Given the description of an element on the screen output the (x, y) to click on. 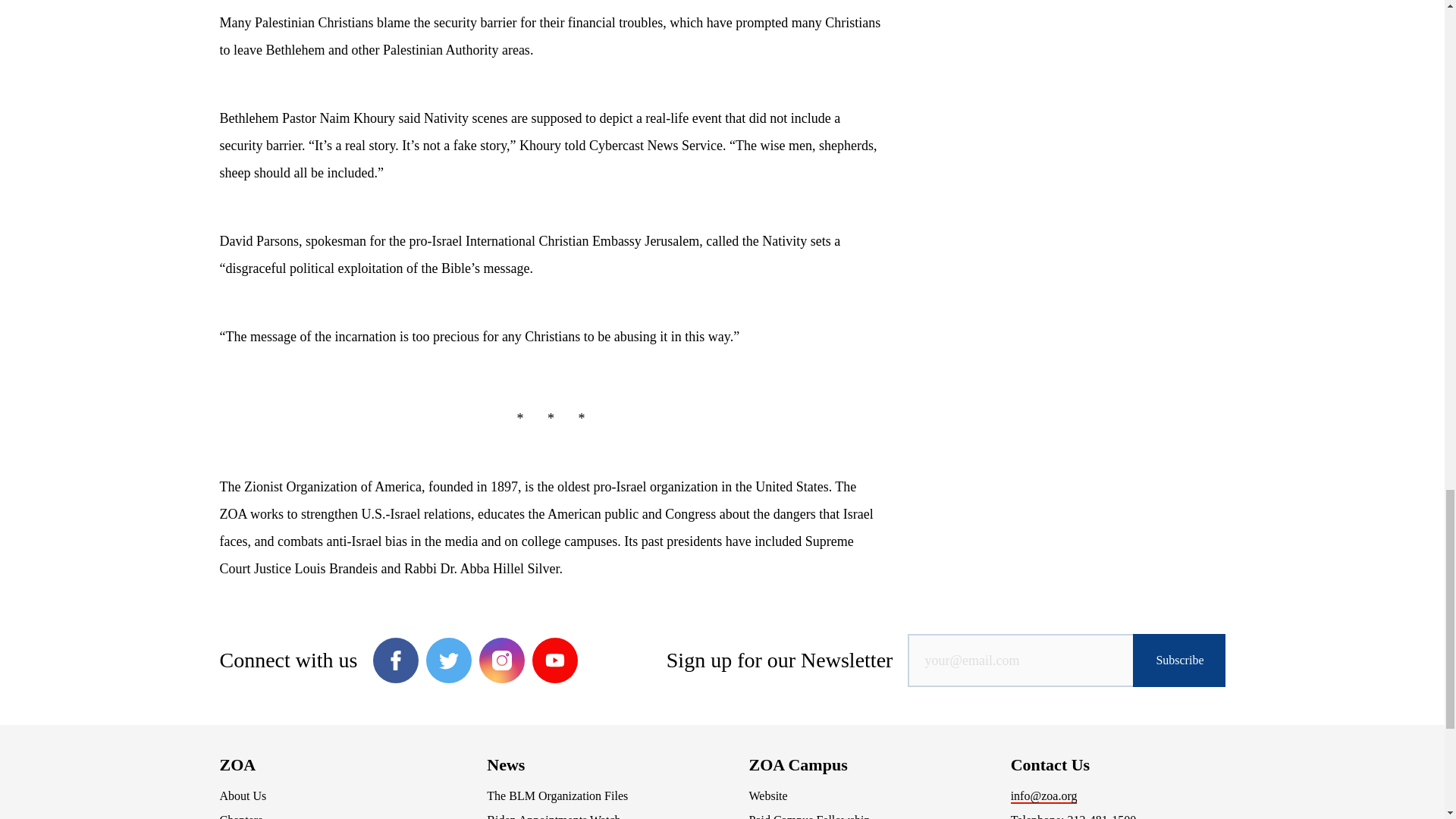
Subscribe (1178, 660)
